Given the description of an element on the screen output the (x, y) to click on. 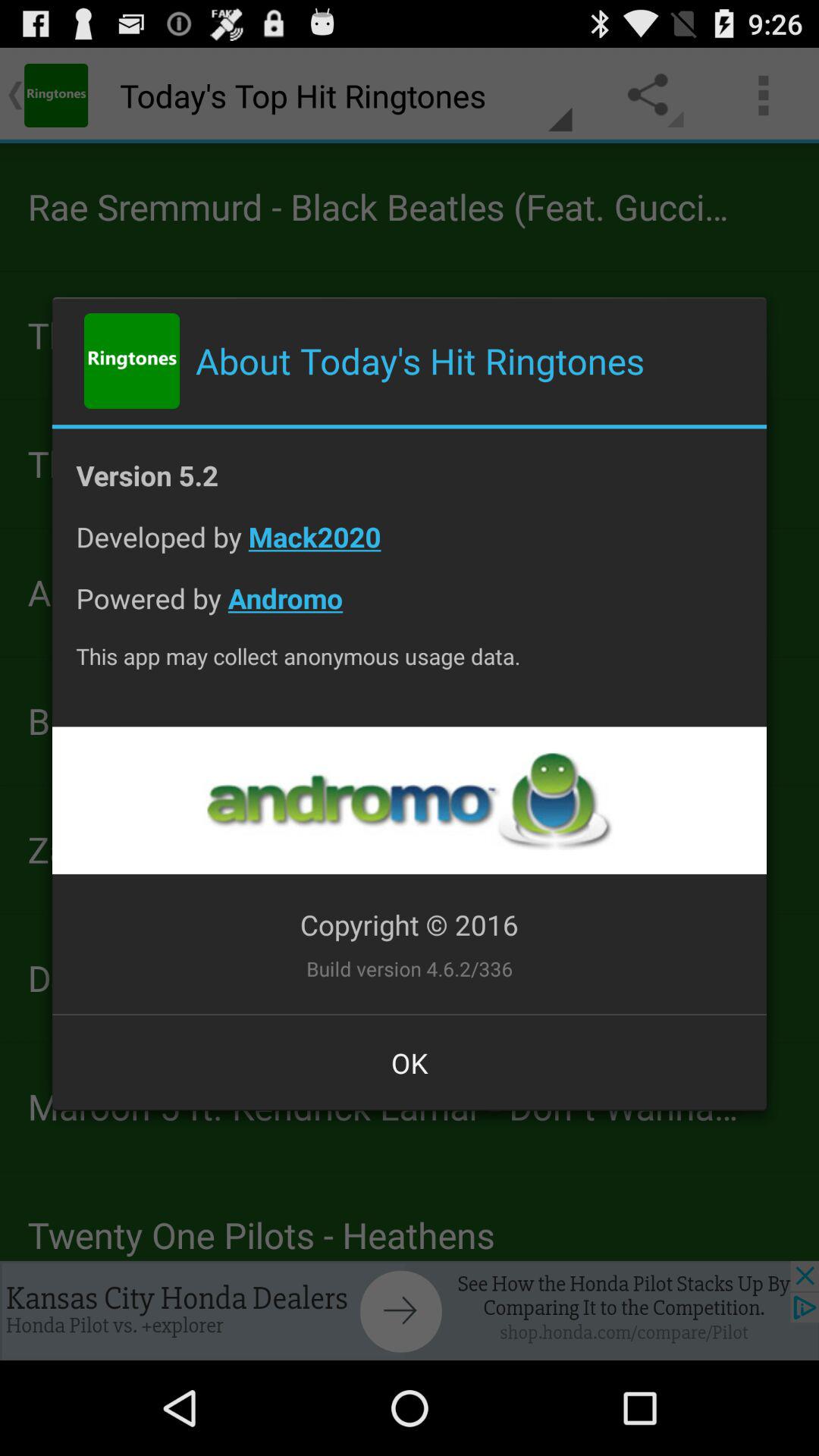
scroll to developed by mack2020 item (409, 548)
